Given the description of an element on the screen output the (x, y) to click on. 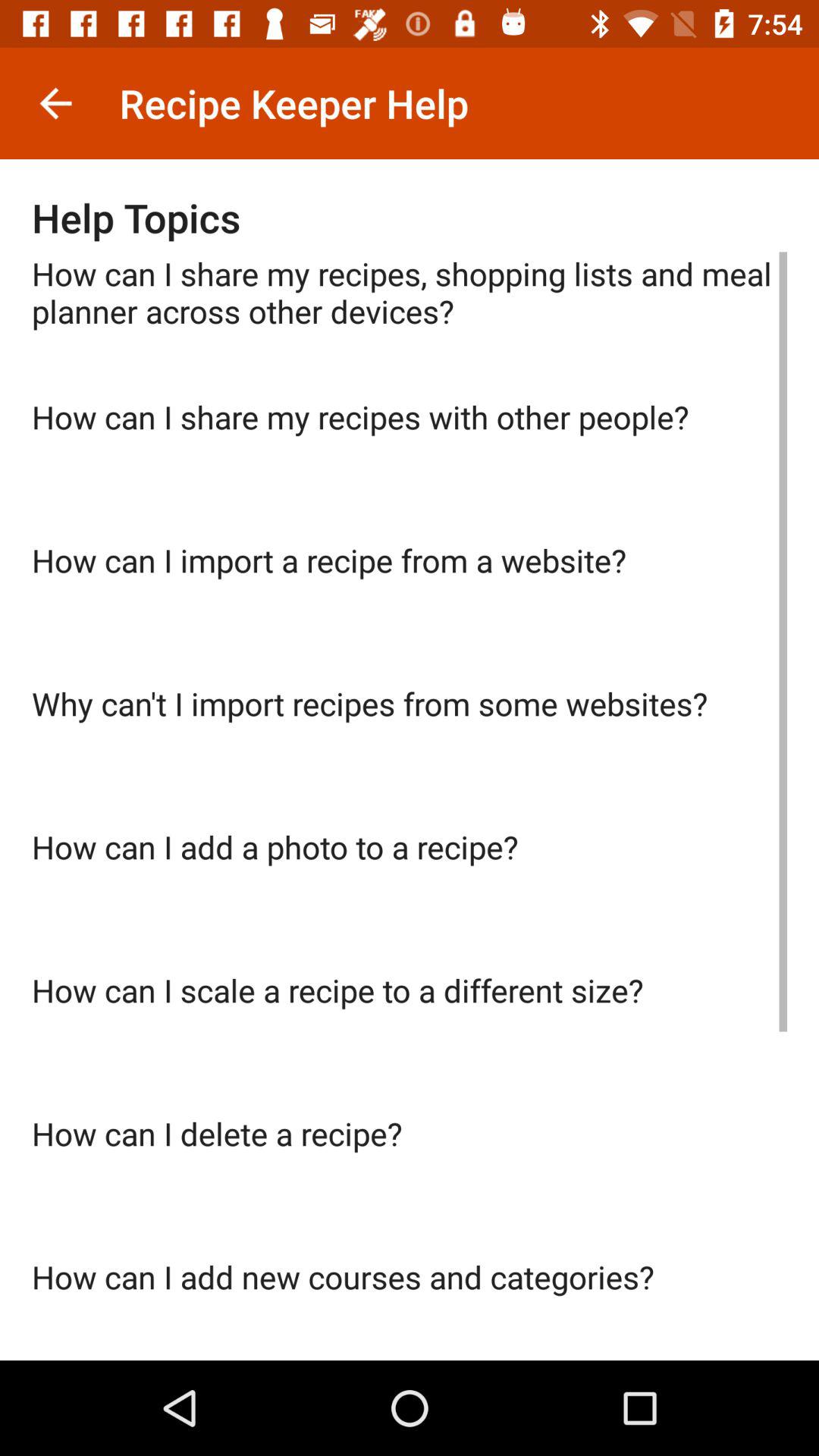
launch item below the how can i icon (409, 753)
